Given the description of an element on the screen output the (x, y) to click on. 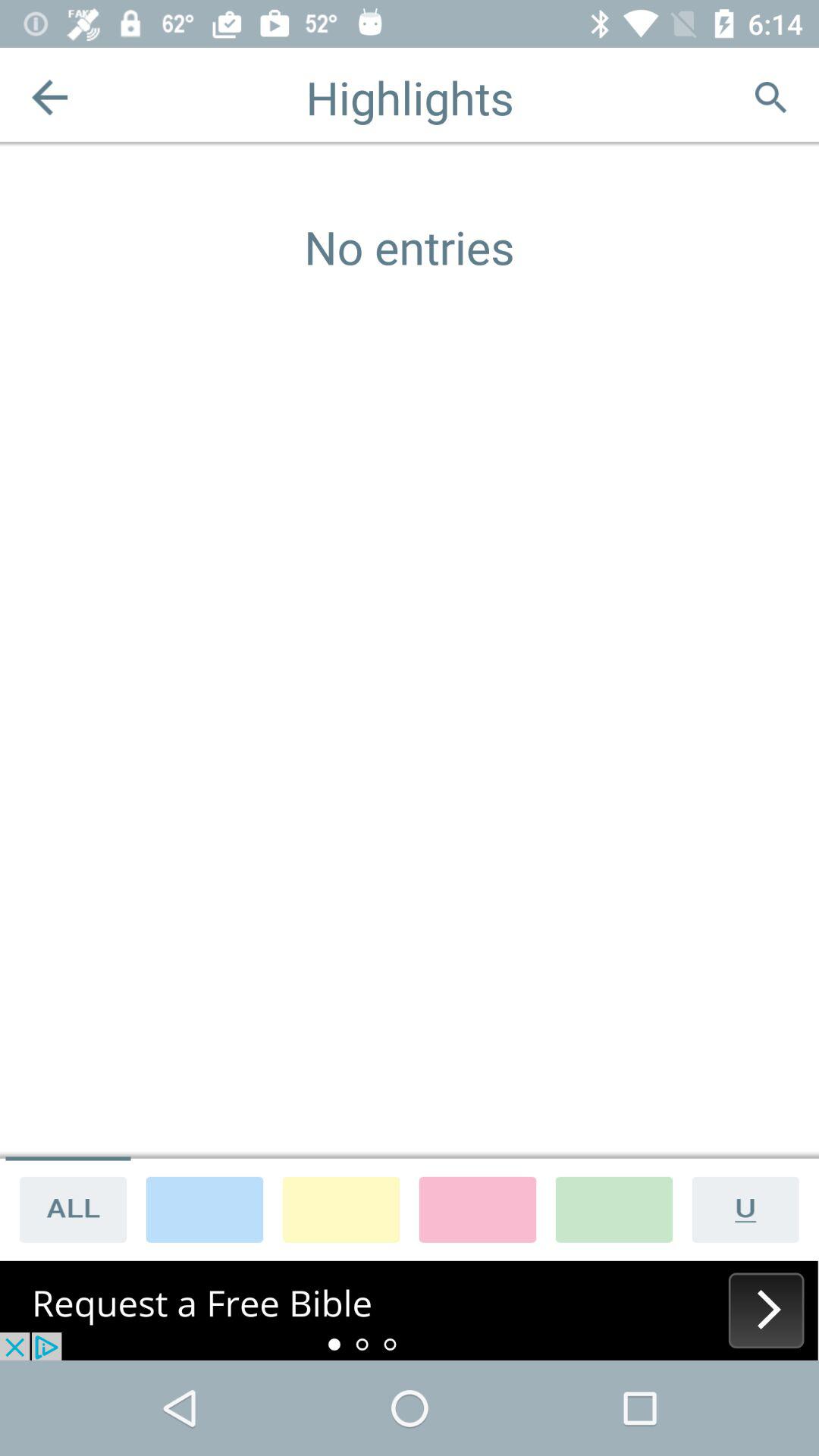
see all contents (68, 1208)
